Given the description of an element on the screen output the (x, y) to click on. 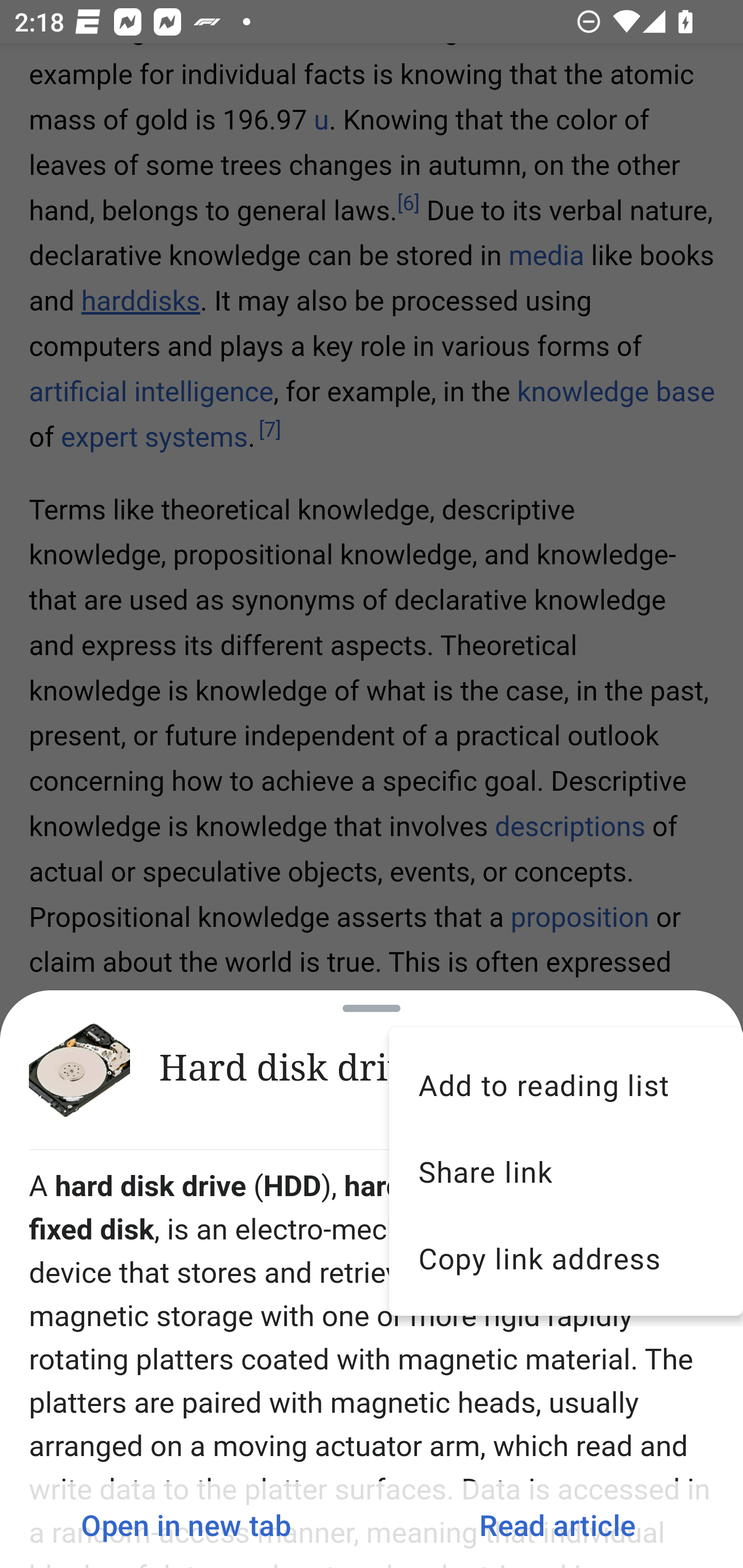
Add to reading list (566, 1084)
Share link (566, 1171)
Copy link address (566, 1258)
